Given the description of an element on the screen output the (x, y) to click on. 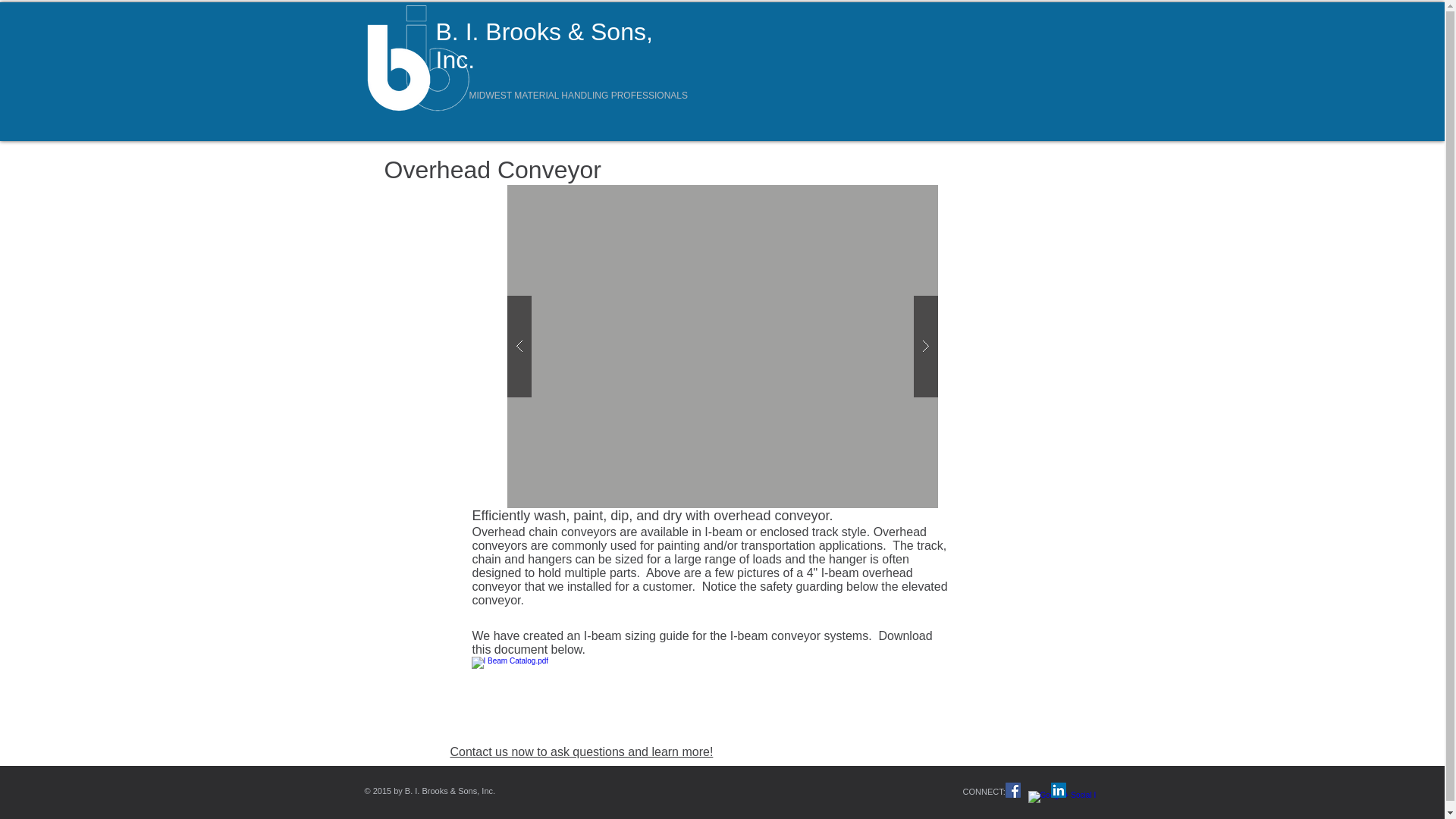
BIB Logo no text white with transparent bg.gif (422, 58)
I Beam Catalog.pdf (532, 700)
Contact us now to ask questions and learn more! (581, 751)
